Given the description of an element on the screen output the (x, y) to click on. 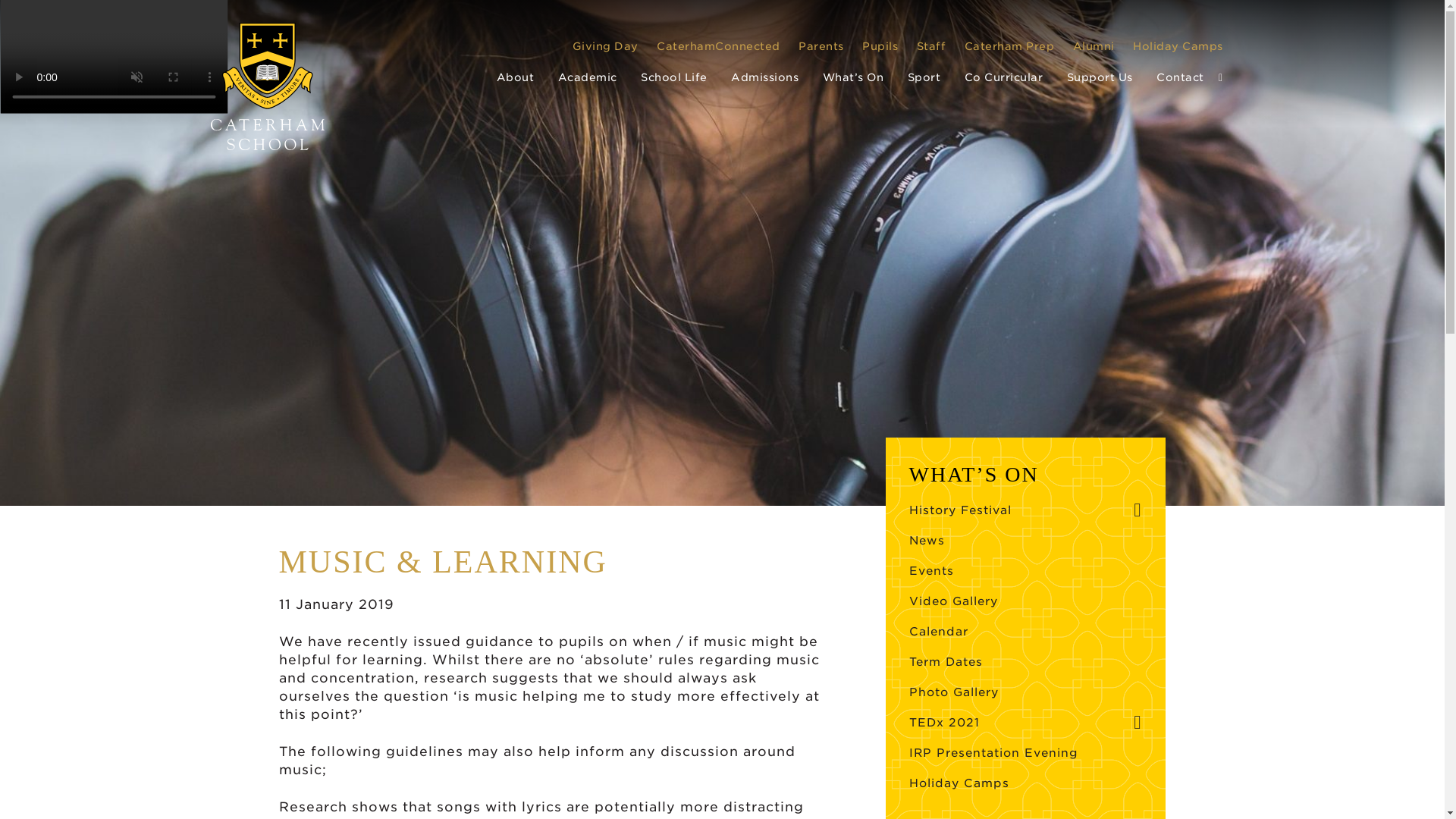
History Festival (962, 510)
Giving Day (604, 46)
Caterham Prep (1008, 46)
School Life (673, 77)
Calendar (938, 631)
Support Us (1099, 77)
Contact (1180, 77)
Parents (820, 46)
TEDx 2021 (943, 722)
About (515, 77)
CaterhamConnected (718, 46)
Term Dates (945, 662)
Co Curricular (1003, 77)
Pupils (879, 46)
Holiday Camps (1177, 46)
